Given the description of an element on the screen output the (x, y) to click on. 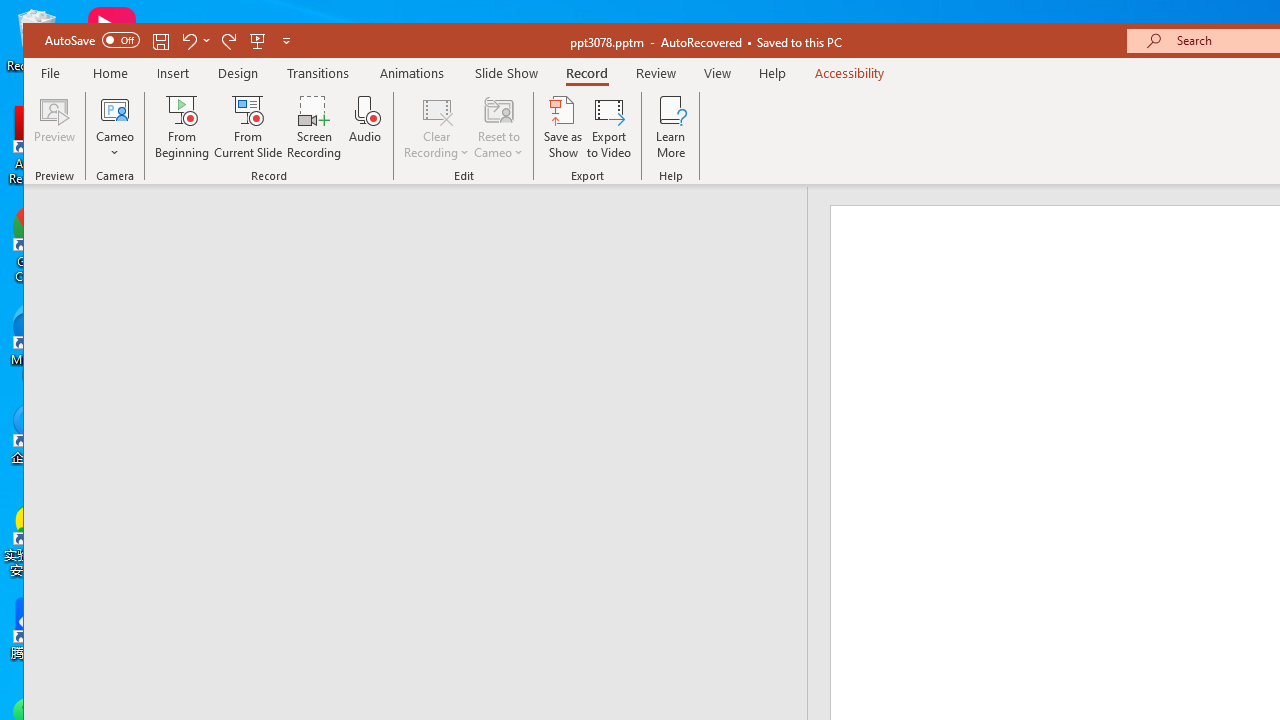
Save as Show (562, 127)
Learn More (671, 127)
